Given the description of an element on the screen output the (x, y) to click on. 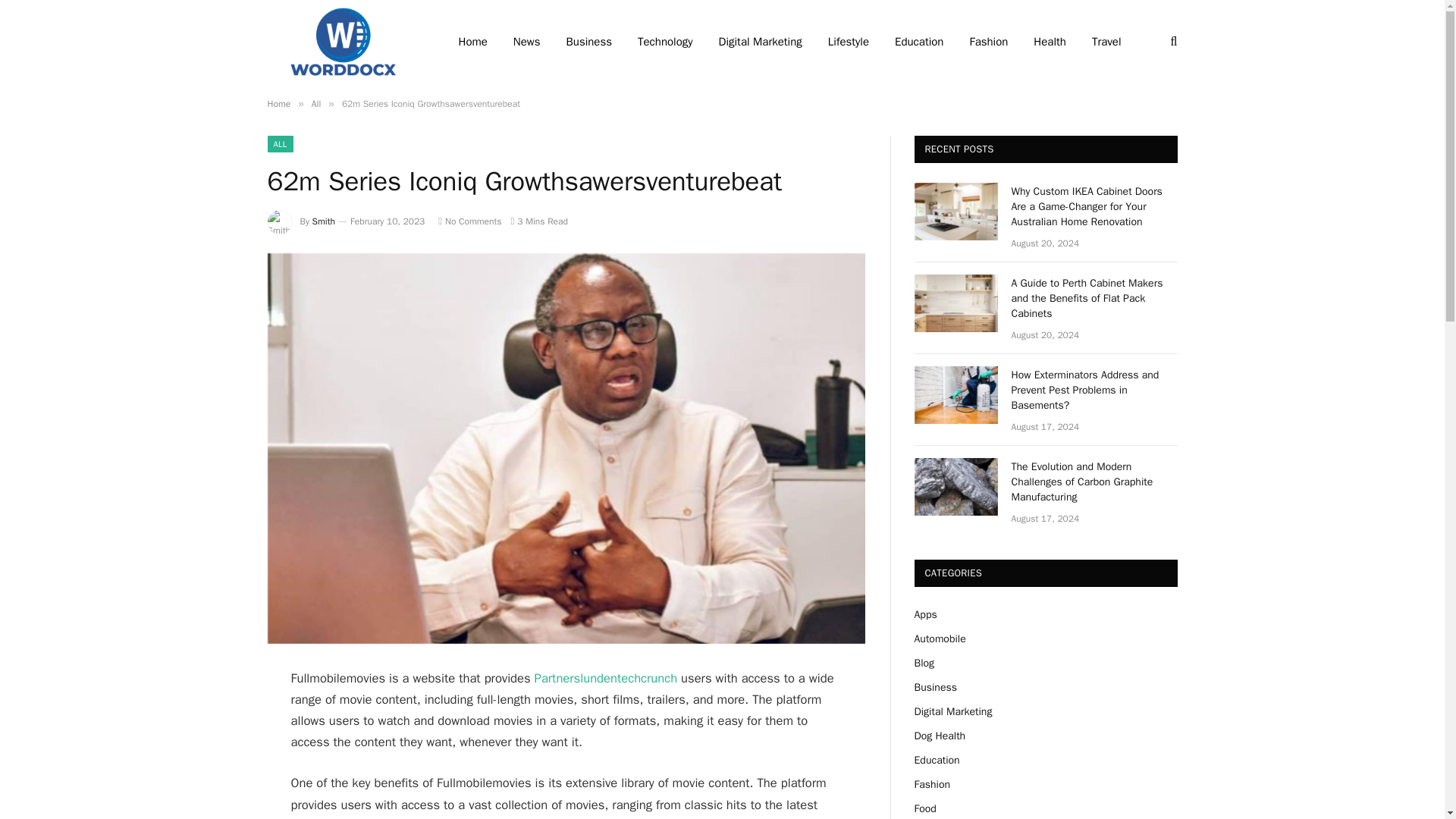
Home (277, 103)
Technology (665, 41)
No Comments (469, 221)
Smith (323, 221)
Posts by Smith (323, 221)
Digital Marketing (760, 41)
Partnerslundentechcrunch (606, 678)
